Given the description of an element on the screen output the (x, y) to click on. 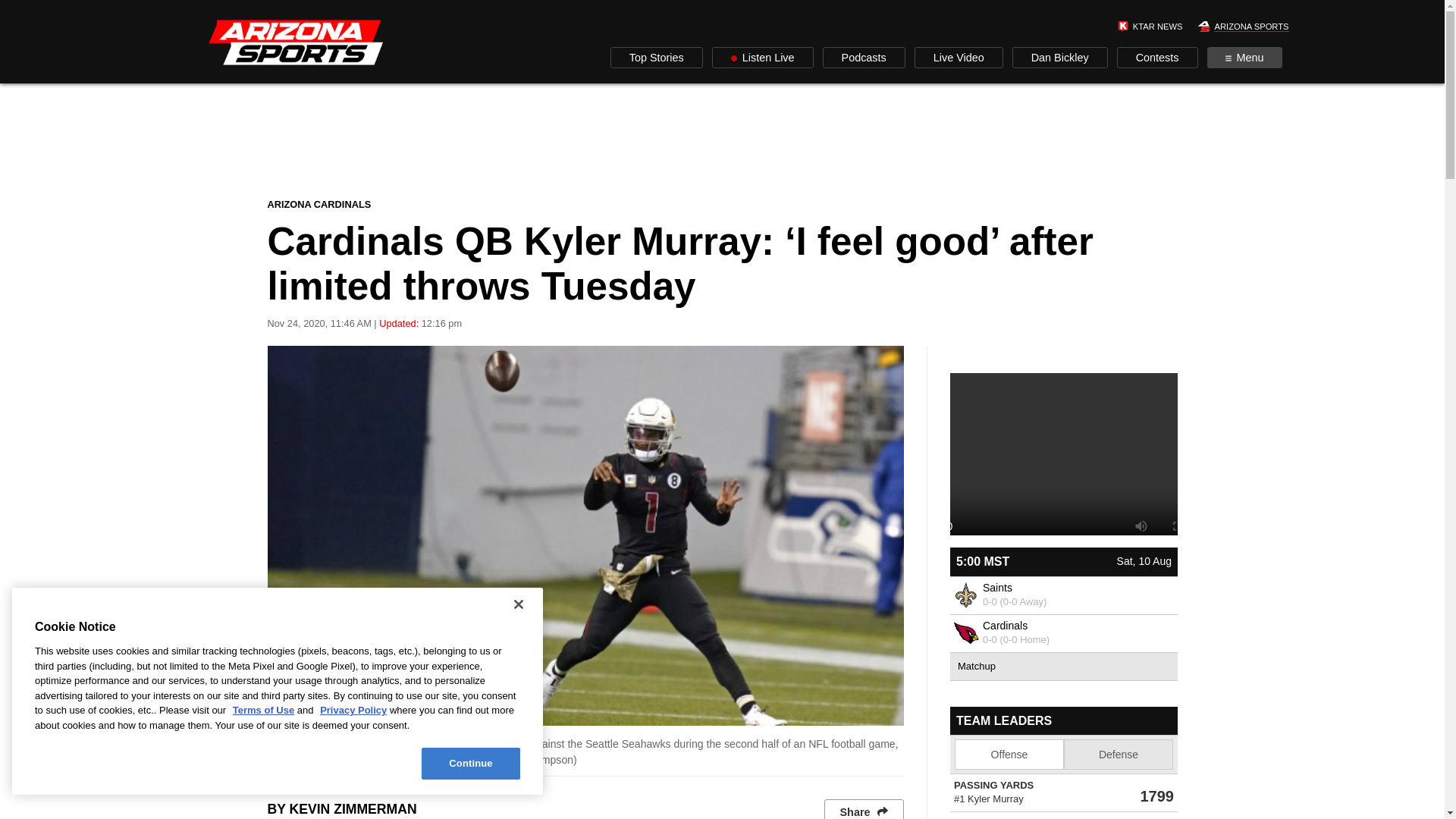
3rd party ad content (721, 140)
widget (1062, 762)
3rd party ad content (1062, 440)
widget (1062, 613)
